Given the description of an element on the screen output the (x, y) to click on. 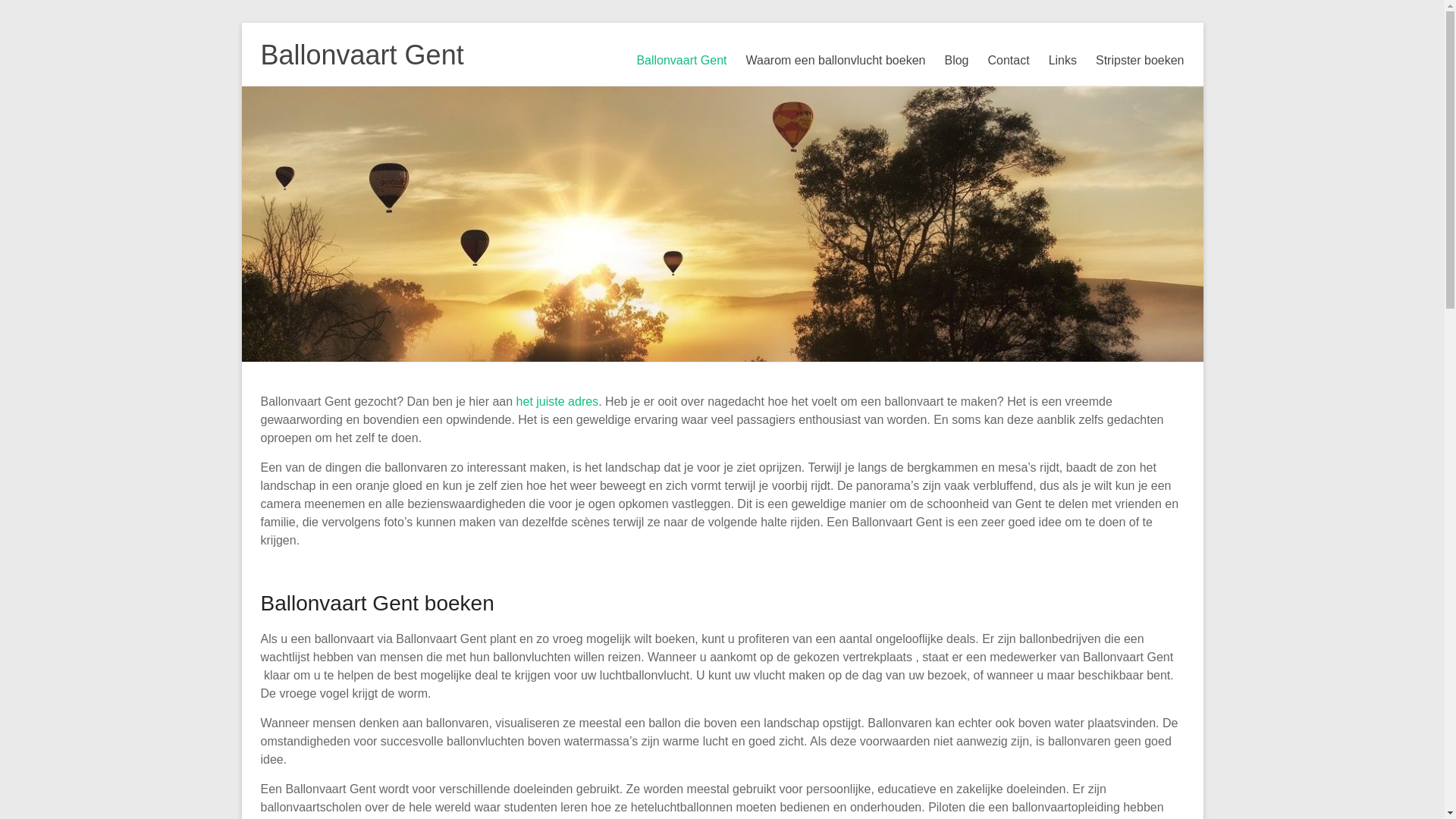
Waarom een ballonvlucht boeken Element type: text (835, 60)
Stripster boeken Element type: text (1139, 60)
Contact Element type: text (1008, 60)
Skip to content Element type: text (241, 21)
het juiste adres Element type: text (557, 401)
Links Element type: text (1062, 60)
Blog Element type: text (956, 60)
Ballonvaart Gent Element type: text (681, 60)
Ballonvaart Gent Element type: text (362, 54)
